Given the description of an element on the screen output the (x, y) to click on. 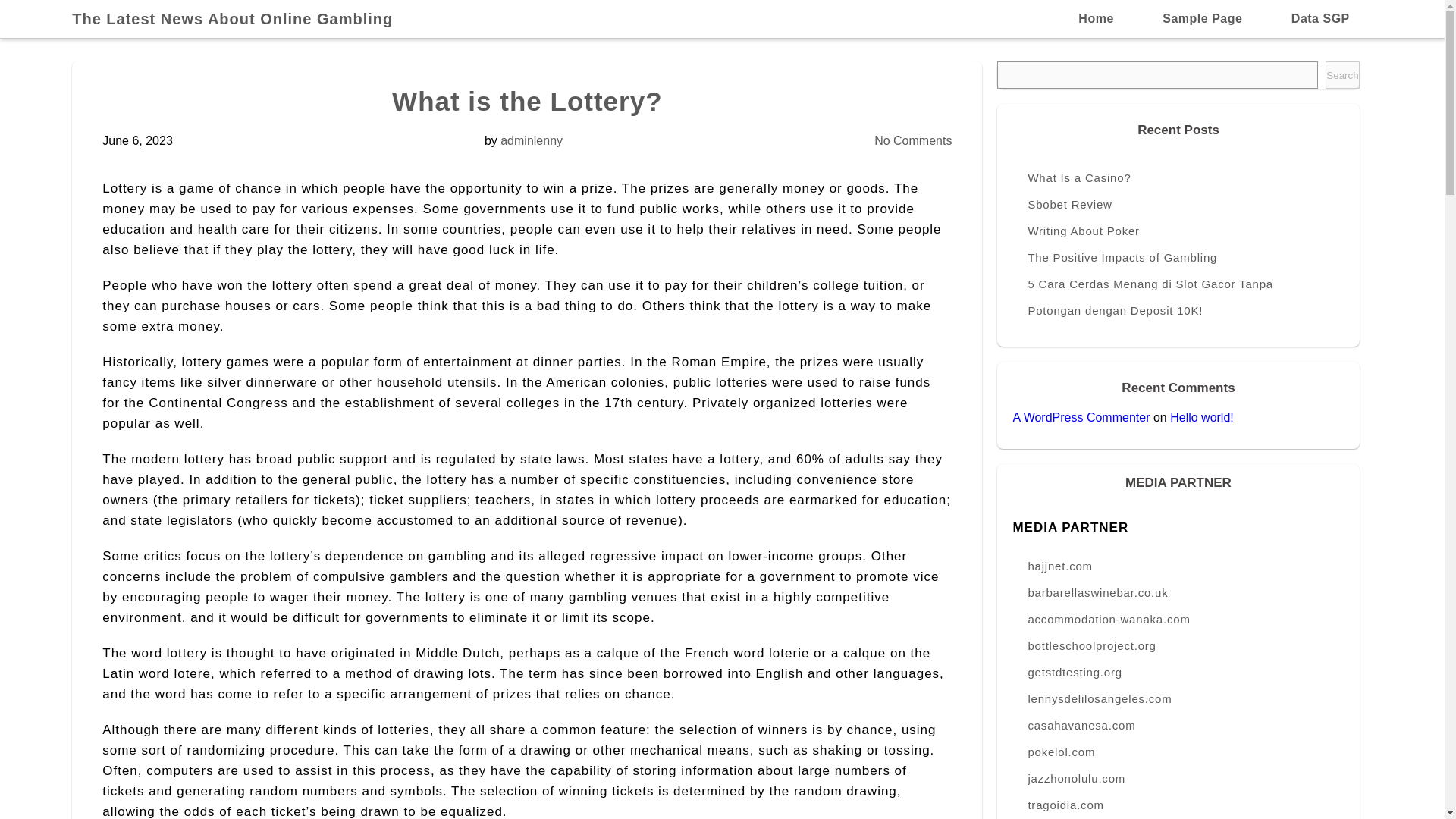
Data SGP (1320, 18)
Search (1341, 74)
getstdtesting.org (1177, 672)
tragoidia.com (1177, 804)
accommodation-wanaka.com (1177, 619)
pokelol.com (1177, 751)
Home (1095, 18)
The Positive Impacts of Gambling (1177, 257)
The Latest News About Online Gambling (239, 18)
